Given the description of an element on the screen output the (x, y) to click on. 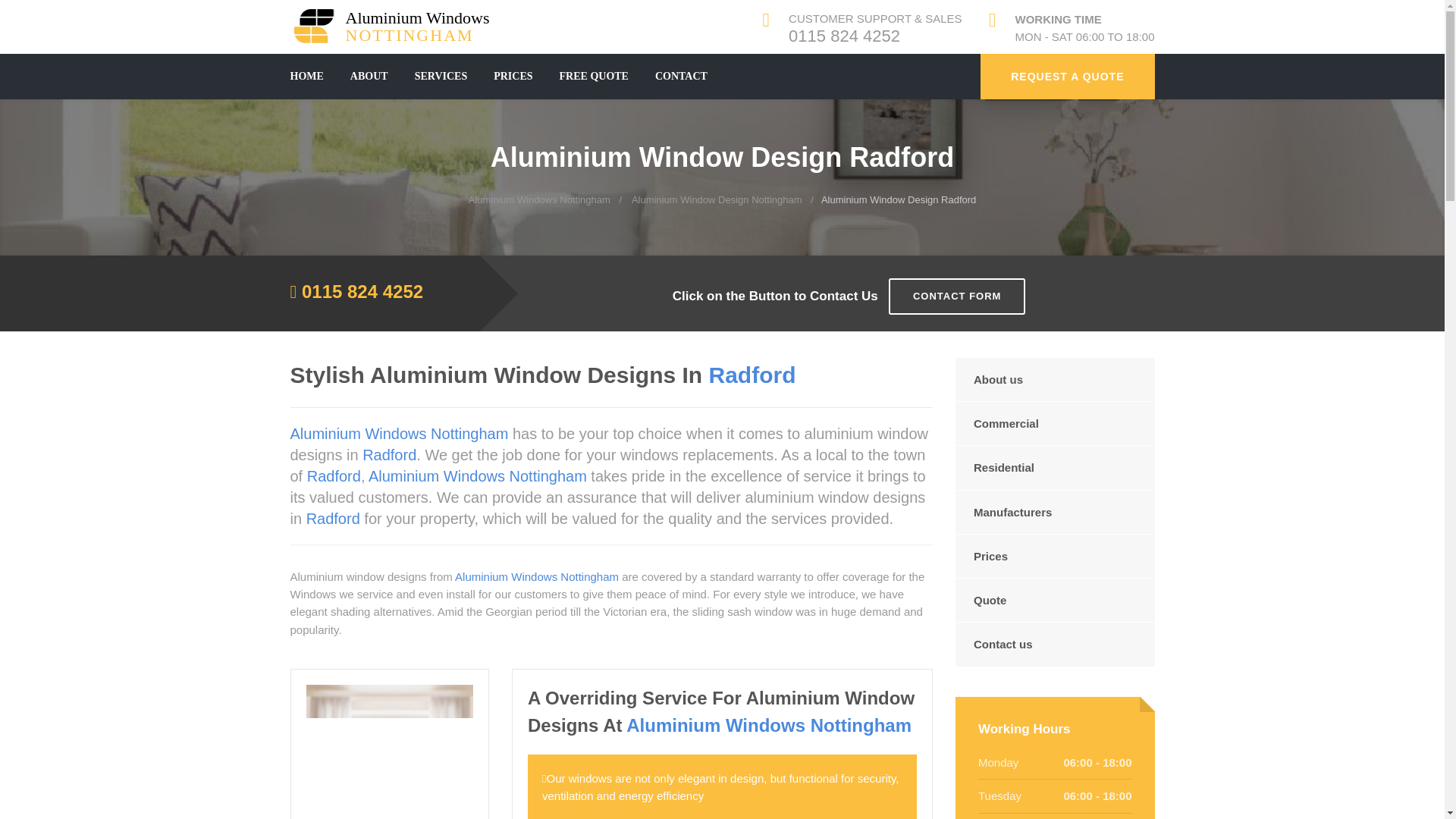
Aluminium Windows Nottingham (395, 26)
0115 824 4252 (539, 199)
0115 824 4252 (362, 291)
FREE QUOTE (844, 35)
CONTACT (593, 75)
Aluminium Windows Nottingham (681, 75)
Aluminium Window Design Nottingham (395, 26)
REQUEST A QUOTE (716, 199)
SERVICES (1066, 75)
